Given the description of an element on the screen output the (x, y) to click on. 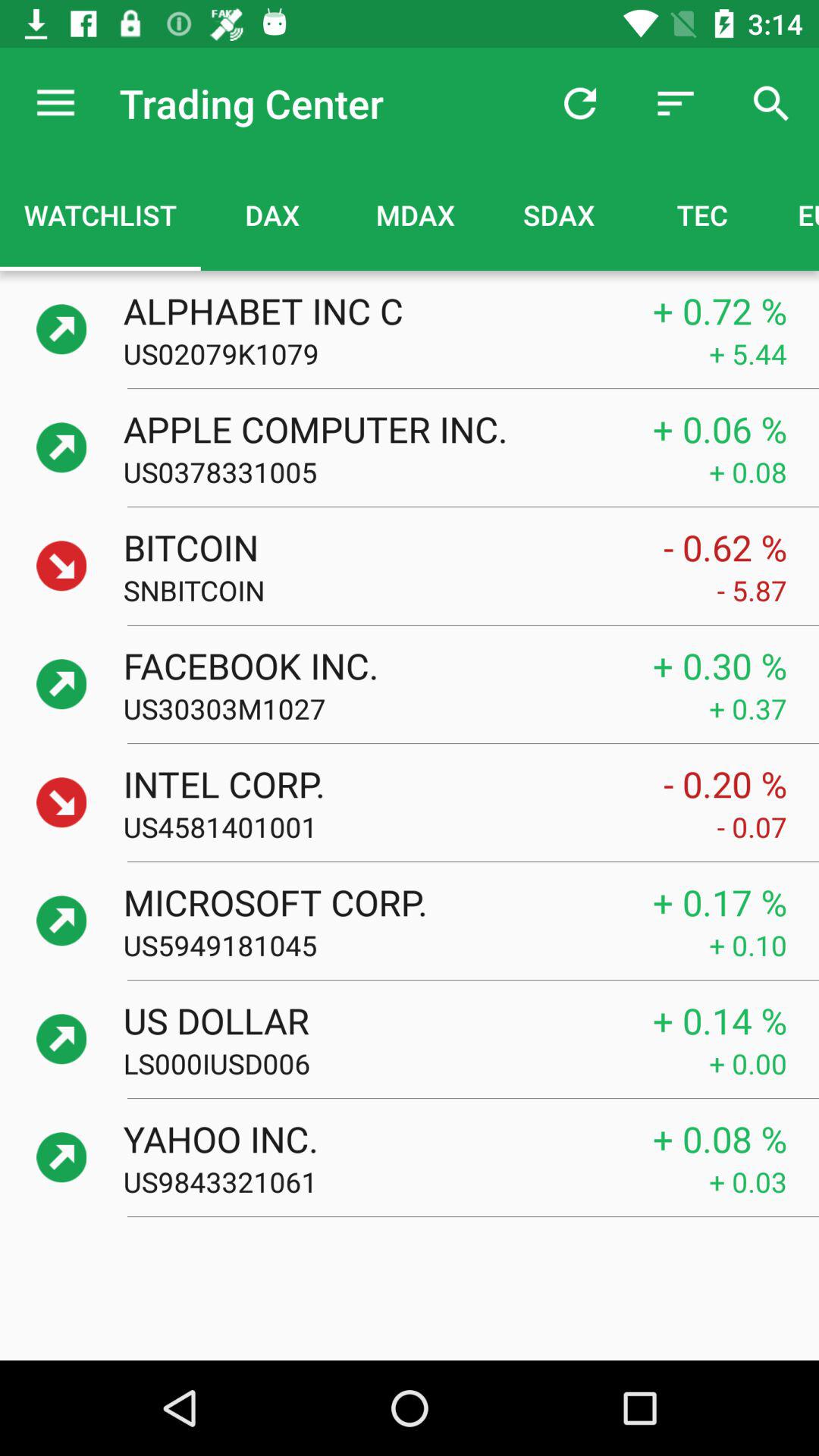
launch the item above the apple computer inc. (416, 353)
